Given the description of an element on the screen output the (x, y) to click on. 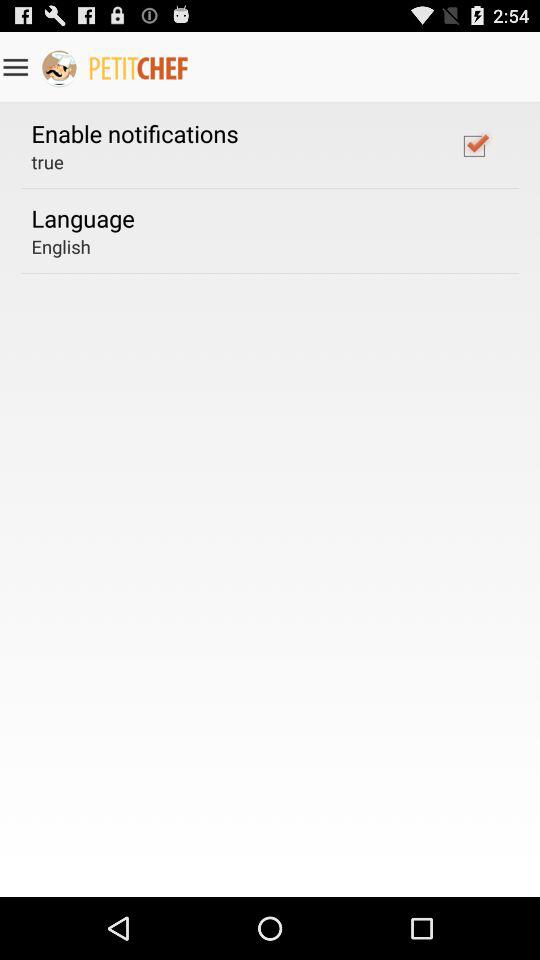
select icon at the top right corner (474, 145)
